Given the description of an element on the screen output the (x, y) to click on. 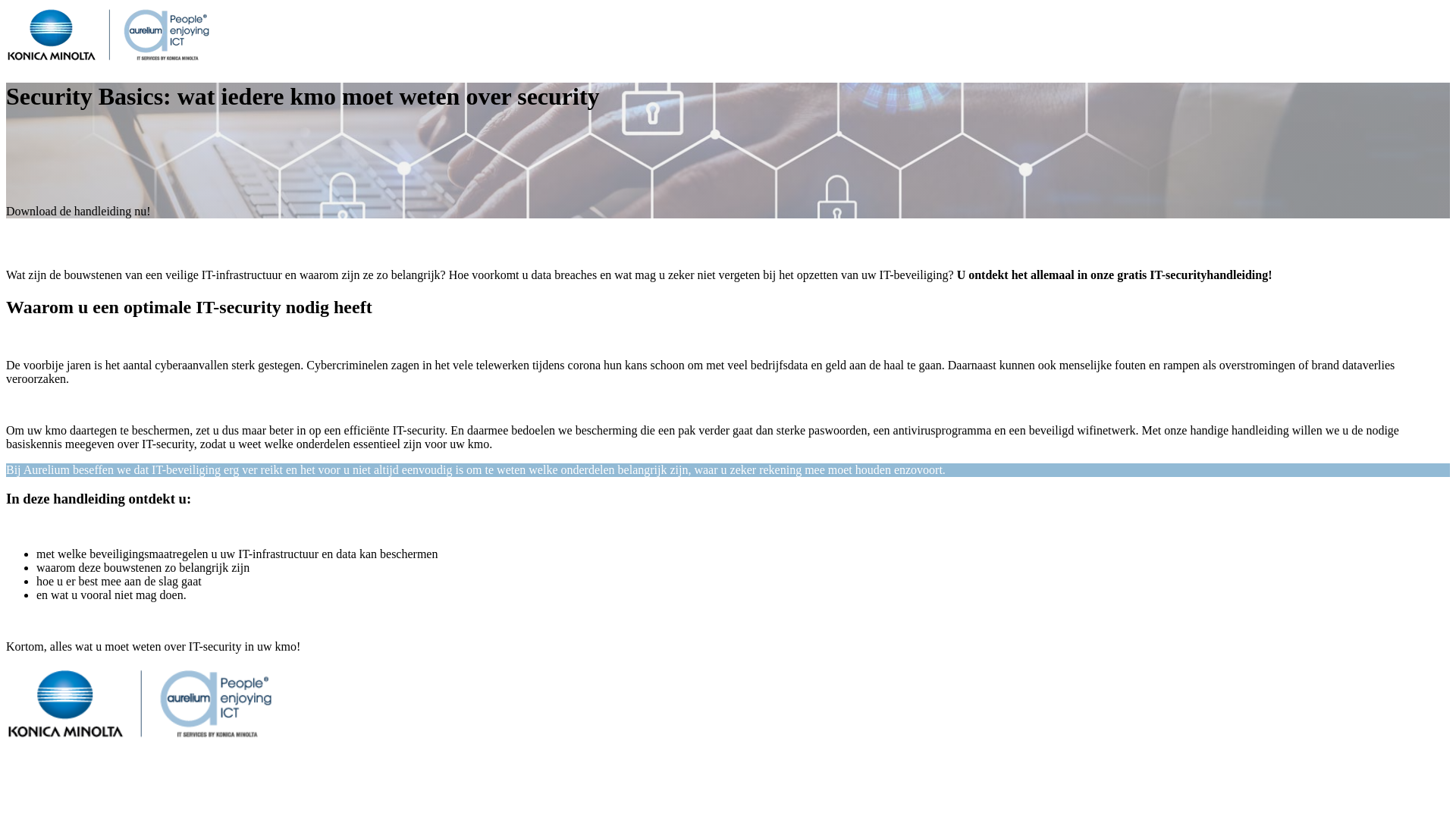
Dual Logo 2019 Element type: hover (139, 703)
Dual Logo 2019 Element type: hover (108, 34)
